Given the description of an element on the screen output the (x, y) to click on. 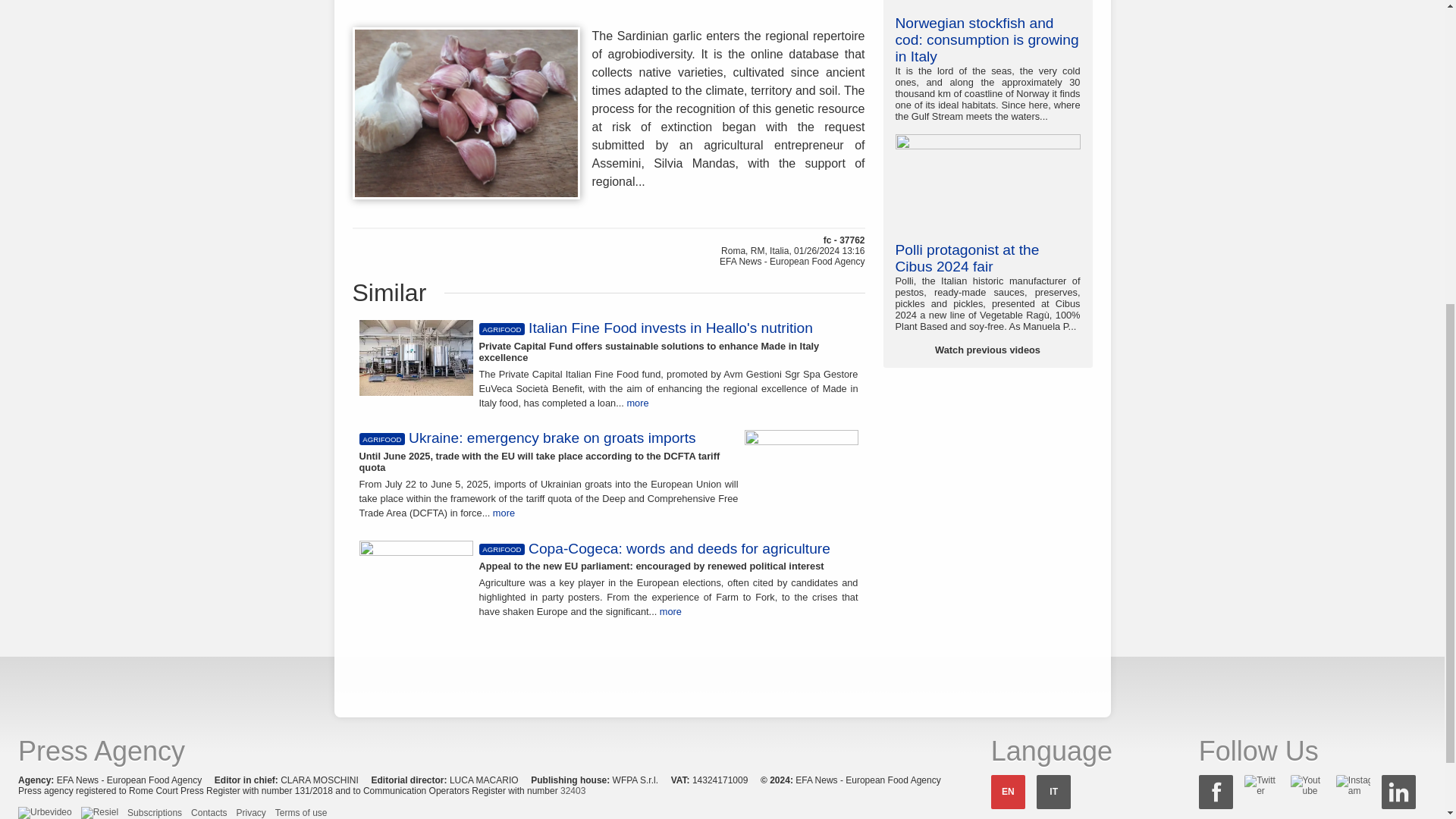
Copa Cogeca (416, 571)
Italiano (1053, 791)
Impianto Heallo (416, 357)
Aglio sardo (466, 113)
English (1008, 791)
Grano dell'Ucraina (801, 467)
Visit our Facebook page (1215, 791)
Visit our Twitter page (1261, 785)
